Given the description of an element on the screen output the (x, y) to click on. 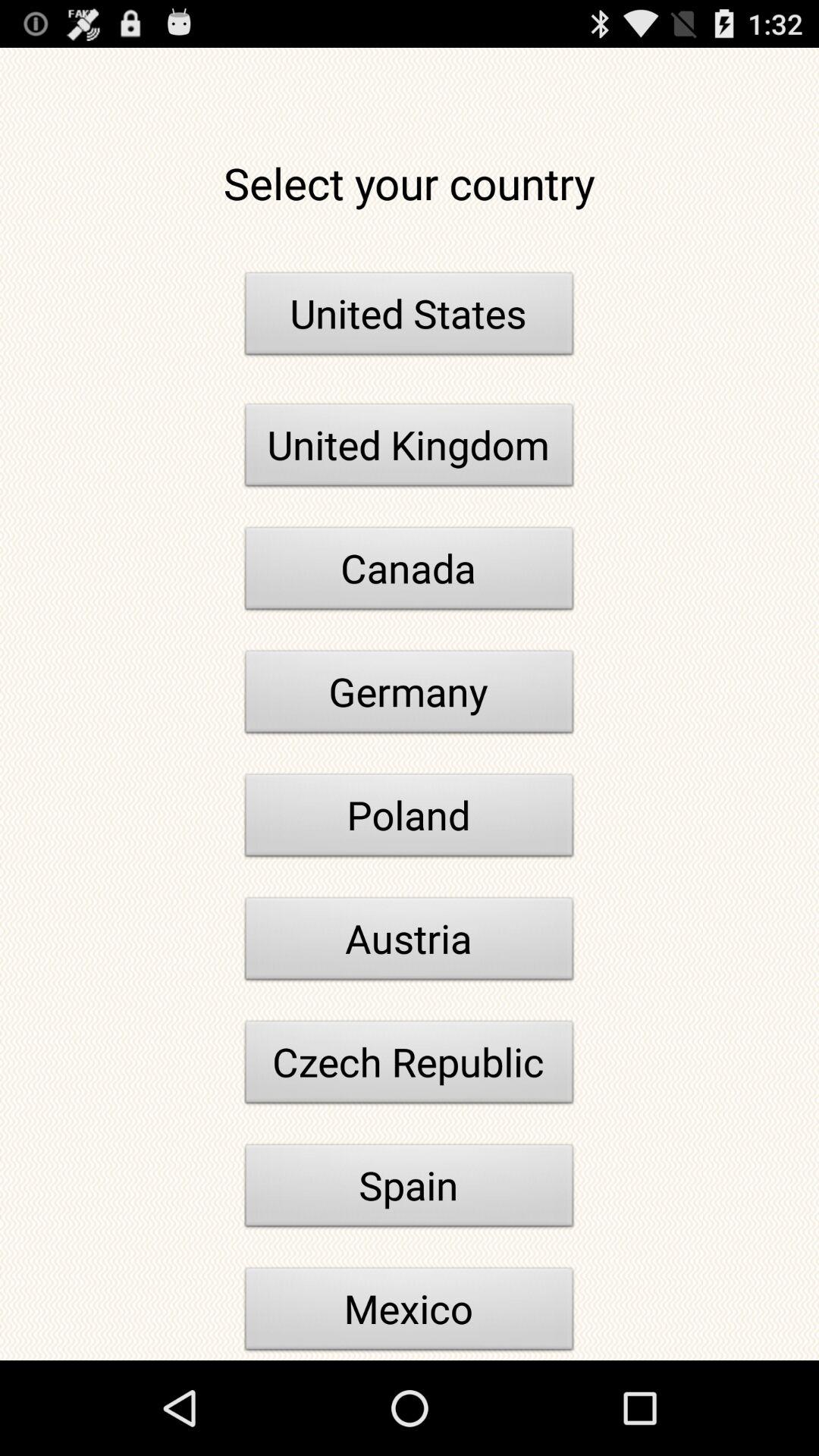
tap the united states (409, 317)
